Given the description of an element on the screen output the (x, y) to click on. 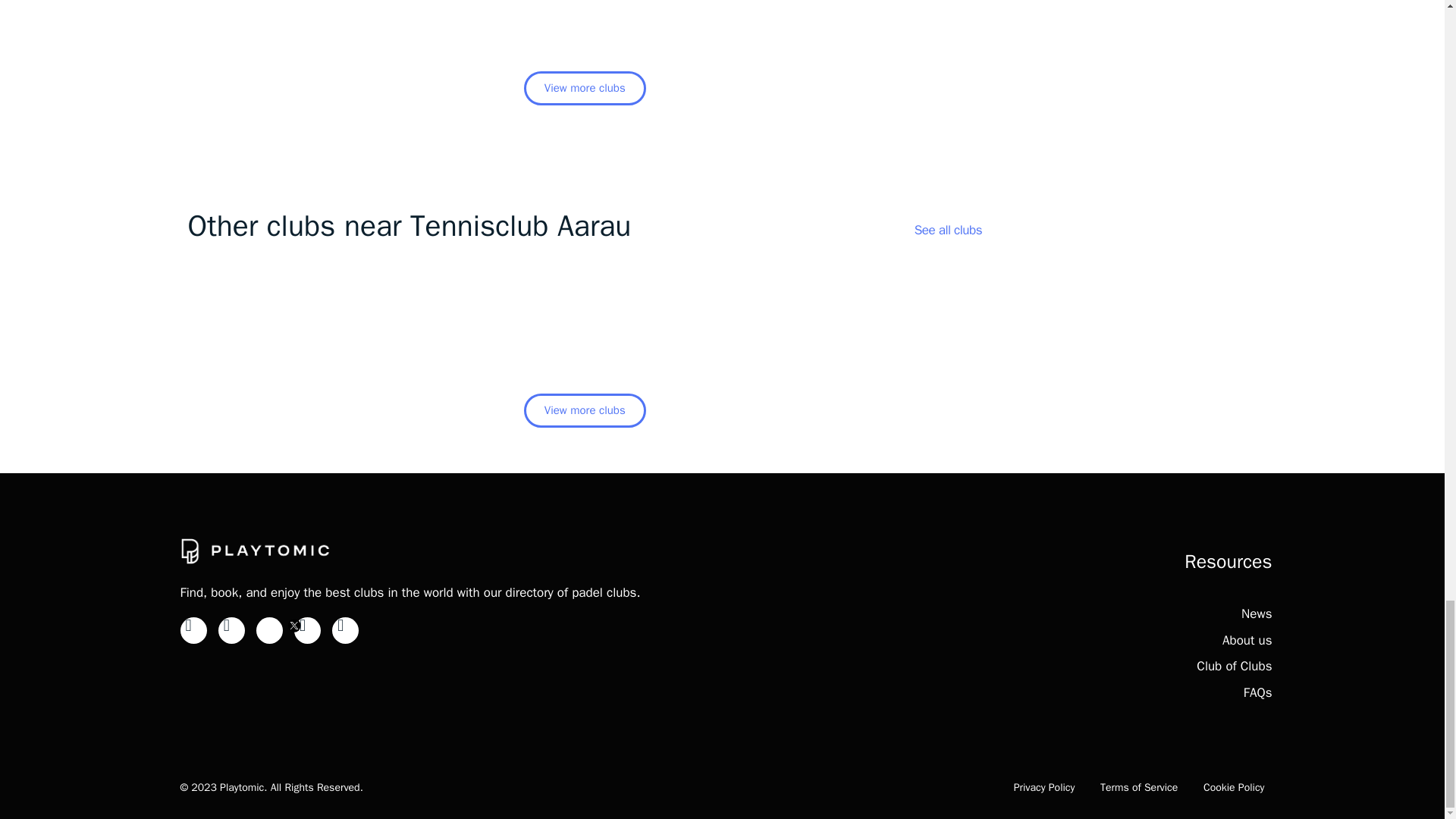
See all clubs (947, 229)
FAQs (1257, 692)
Cookie Policy (1234, 787)
Club of Clubs (1233, 666)
Terms of Service (1138, 787)
View more clubs (585, 88)
About us (1247, 640)
Privacy Policy (1044, 787)
View more clubs (585, 410)
News (1256, 613)
